Given the description of an element on the screen output the (x, y) to click on. 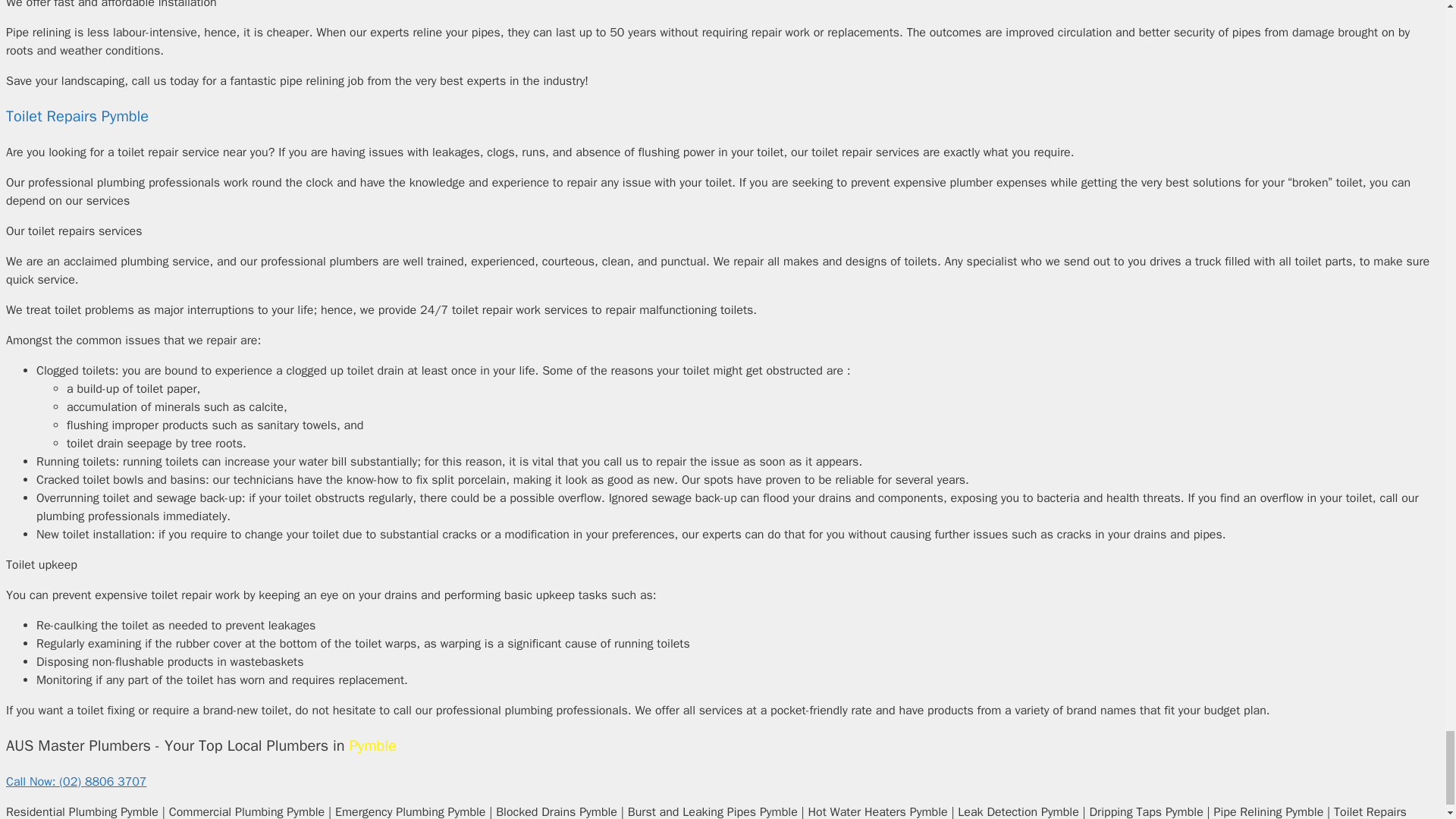
Toilet Repairs Pymble (76, 116)
